Given the description of an element on the screen output the (x, y) to click on. 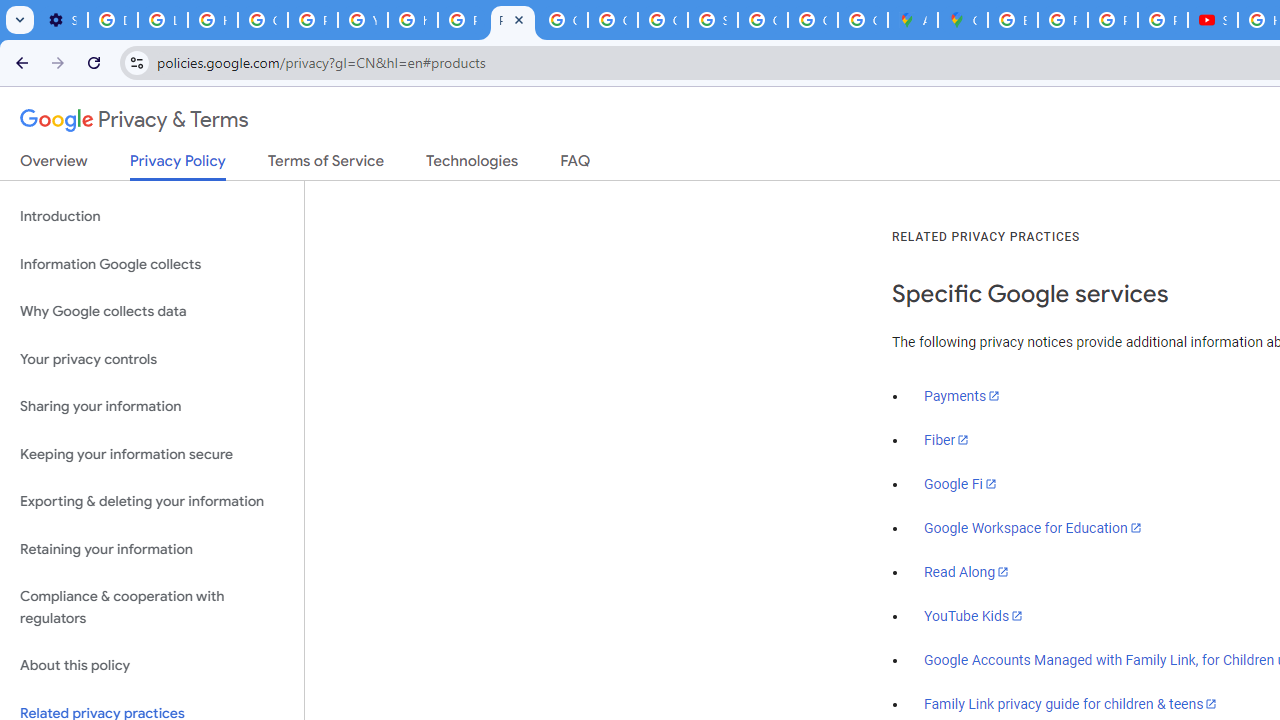
Fiber (947, 440)
YouTube Kids (974, 615)
